Given the description of an element on the screen output the (x, y) to click on. 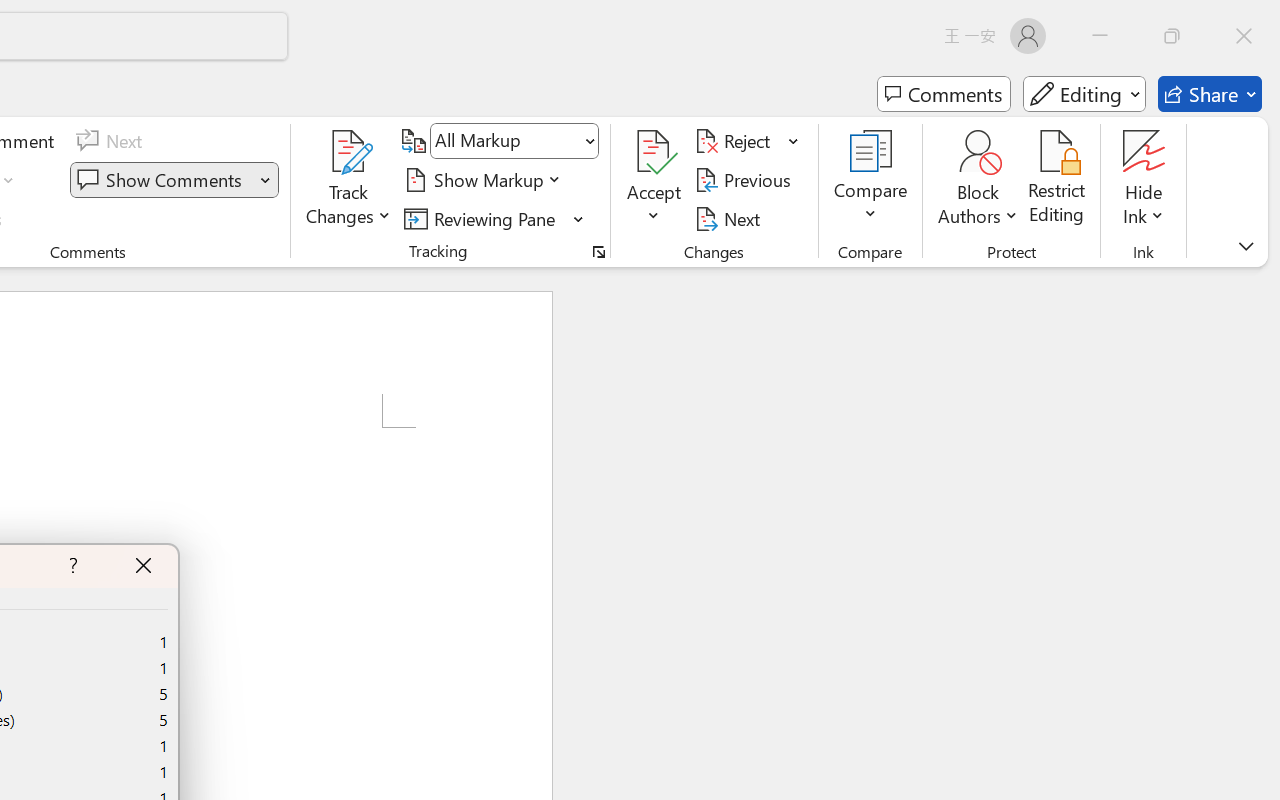
Hide Ink (1144, 151)
Previous (745, 179)
Hide Ink (1144, 179)
Change Tracking Options... (598, 252)
Reject and Move to Next (735, 141)
Accept and Move to Next (653, 151)
Show Comments (174, 179)
Show Comments (162, 179)
Accept (653, 179)
Compare (870, 179)
Show Markup (485, 179)
Reviewing Pane (494, 218)
